Given the description of an element on the screen output the (x, y) to click on. 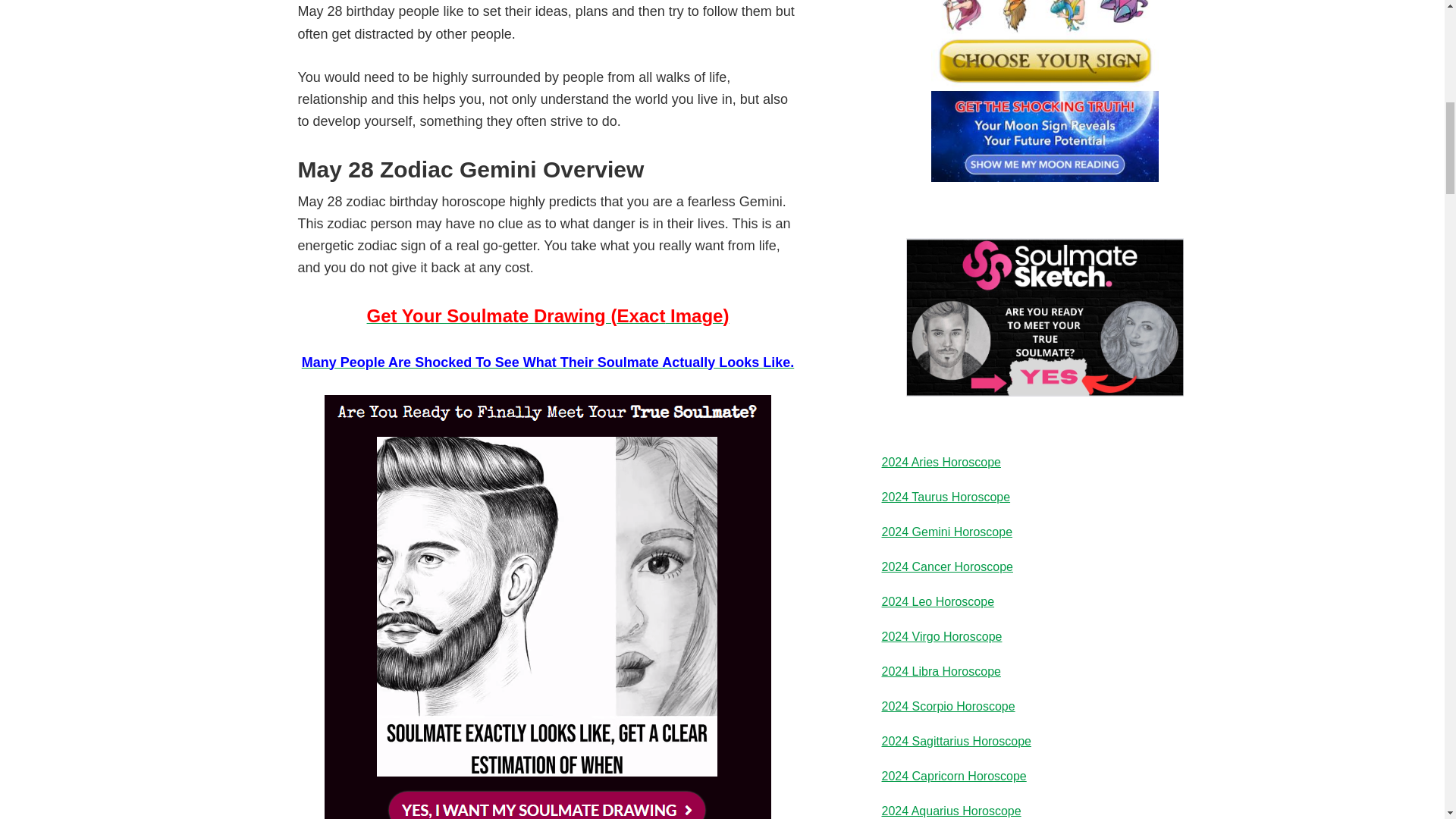
2024 Leo Horoscope (937, 601)
2024 Aries Horoscope (940, 461)
2024 Libra Horoscope (940, 671)
2024 Gemini Horoscope (945, 531)
2024 Virgo Horoscope (940, 635)
2024 Taurus Horoscope (945, 496)
2024 Cancer Horoscope (945, 566)
